Given the description of an element on the screen output the (x, y) to click on. 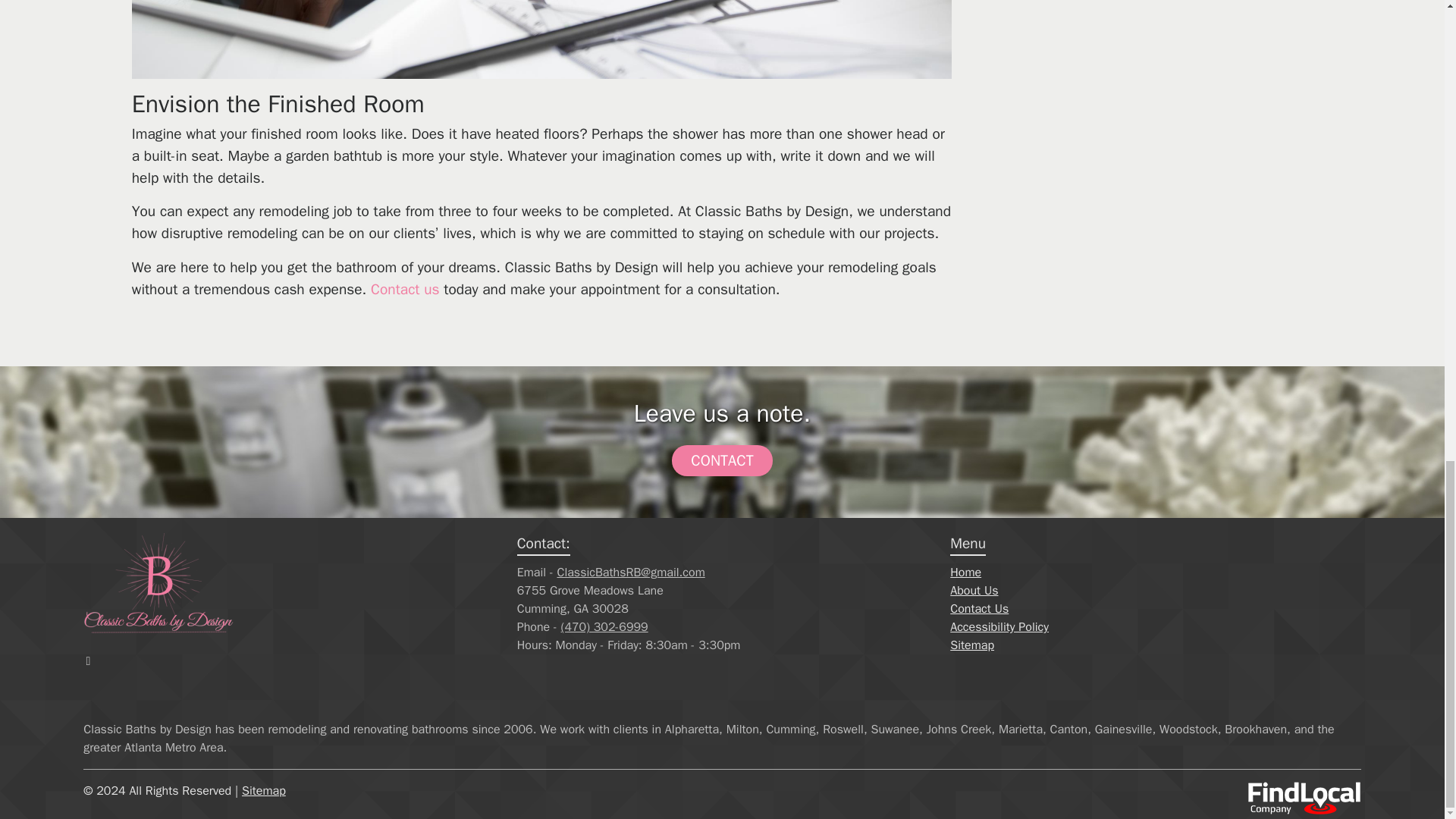
Contact us (405, 289)
Accessibility Policy (999, 626)
CONTACT (721, 460)
Home (965, 572)
Sitemap (972, 645)
About Us (973, 590)
Contact Classic Baths by Design in Alpharetta GA (405, 289)
Sitemap (263, 790)
Contact Us (979, 608)
